Given the description of an element on the screen output the (x, y) to click on. 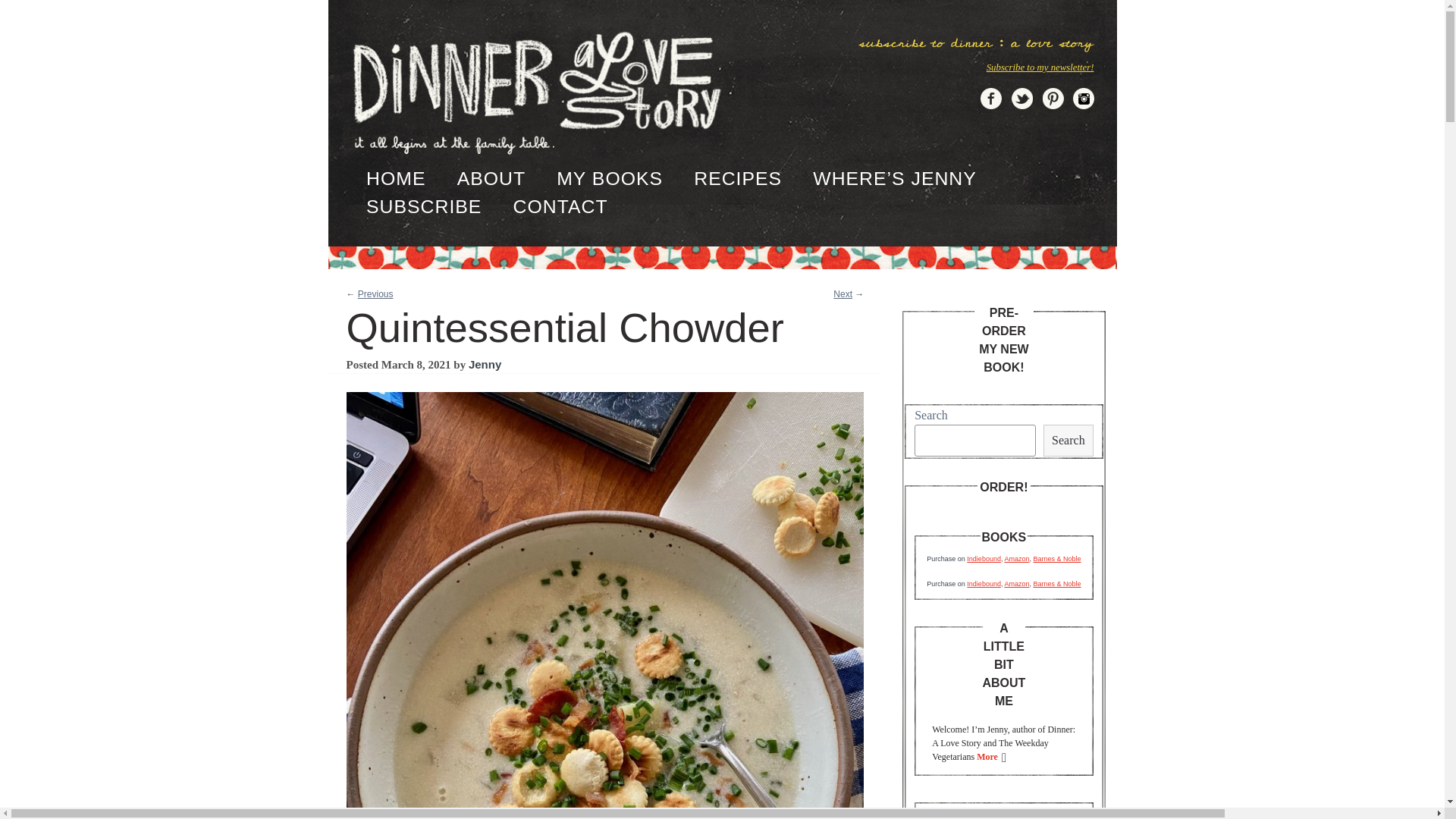
CONTACT (560, 206)
RECIPES (737, 178)
HOME (395, 178)
SUBSCRIBE (423, 206)
Next (841, 294)
Subscribe to my newsletter! (1040, 67)
MY BOOKS (609, 178)
Previous (375, 294)
ABOUT (491, 178)
